Given the description of an element on the screen output the (x, y) to click on. 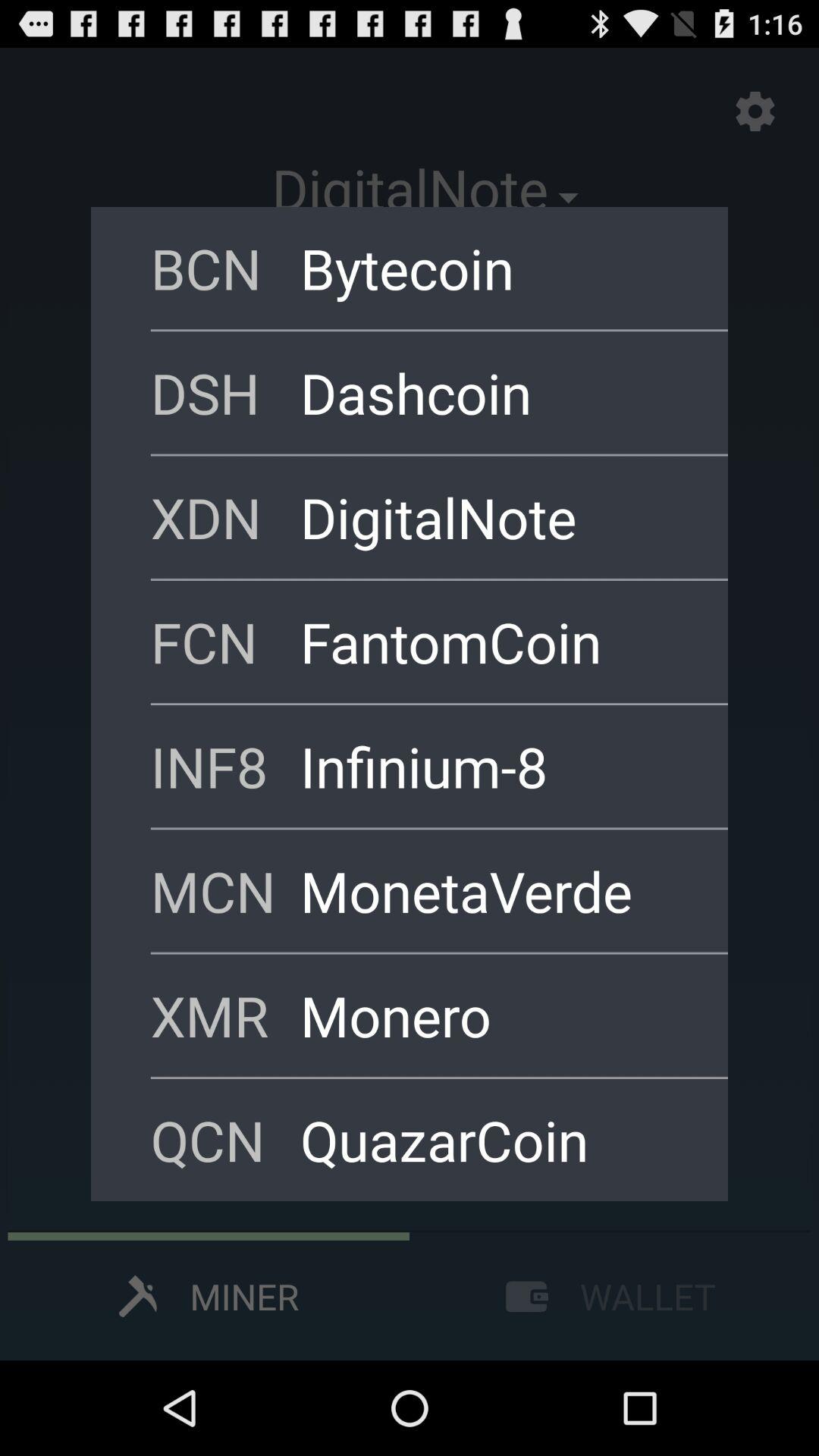
press the xdn (225, 517)
